Given the description of an element on the screen output the (x, y) to click on. 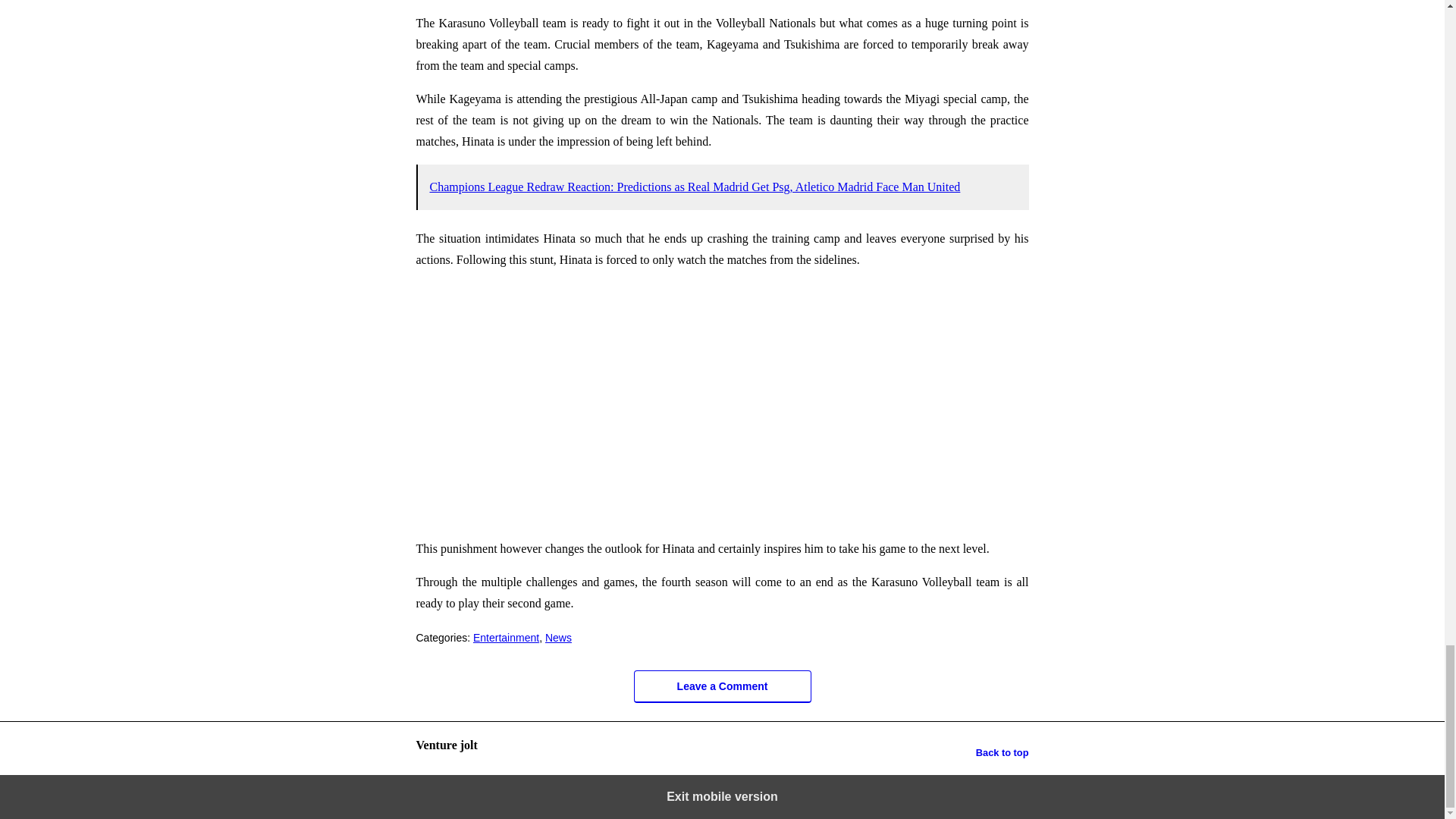
Back to top (1002, 752)
Leave a Comment (721, 686)
News (558, 637)
Entertainment (505, 637)
